Given the description of an element on the screen output the (x, y) to click on. 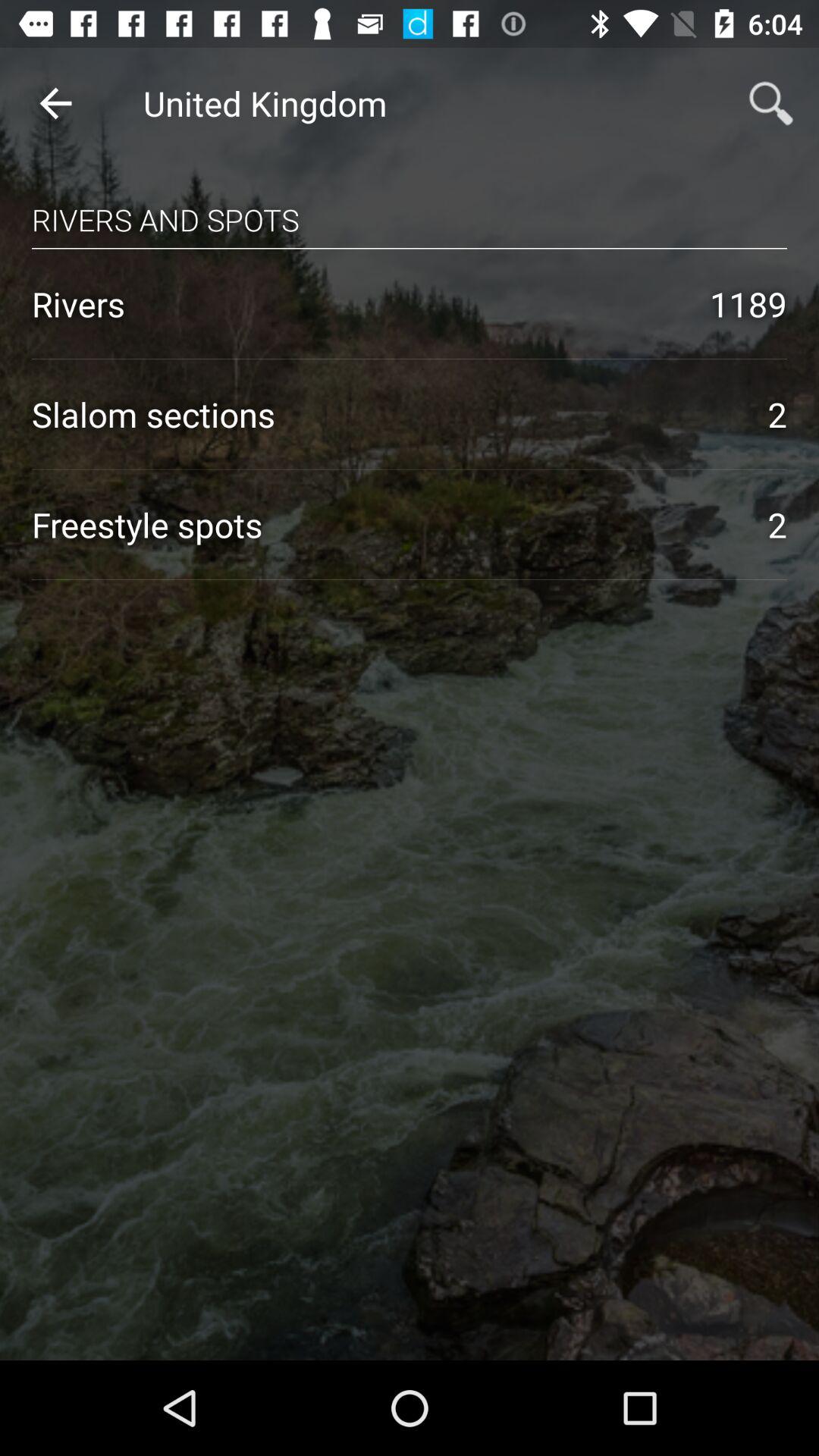
press the item next to rivers icon (748, 303)
